Given the description of an element on the screen output the (x, y) to click on. 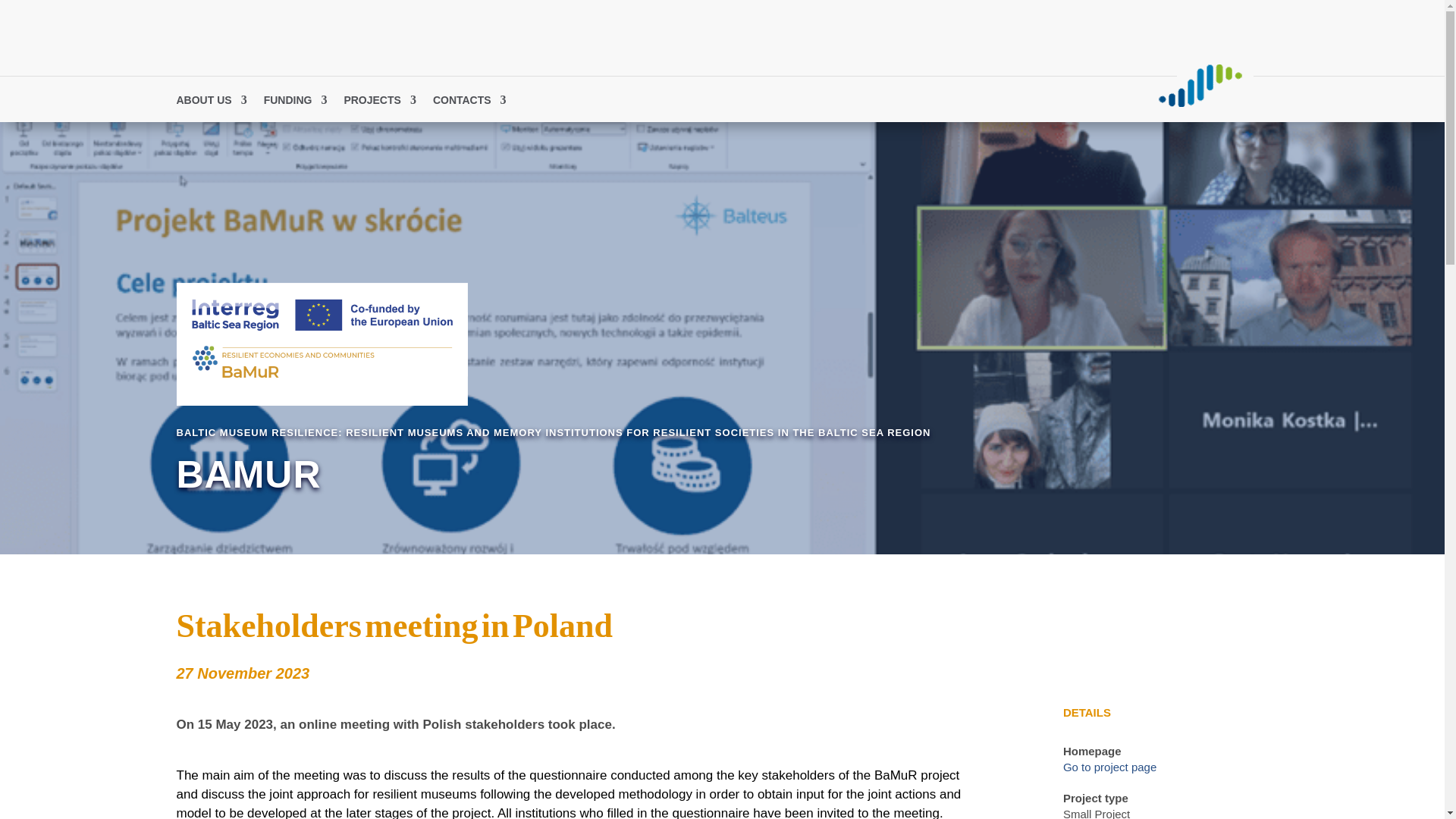
VideoBolt-klein (1199, 85)
PROJECTS (378, 103)
ABOUT US (211, 103)
CONTACTS (469, 103)
FUNDING (295, 103)
Find partners (864, 98)
Log in (930, 98)
